Given the description of an element on the screen output the (x, y) to click on. 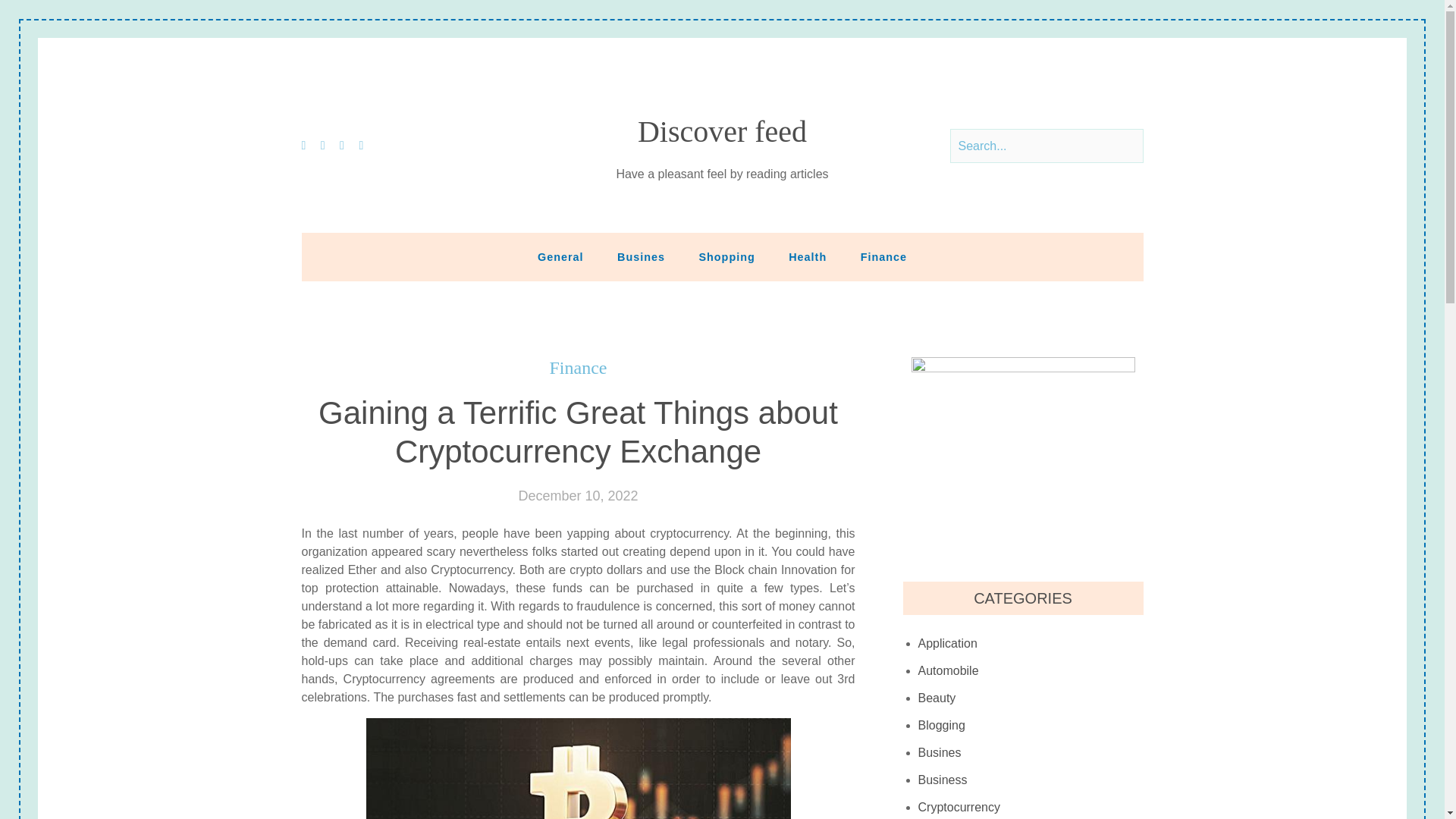
Business (943, 779)
Blogging (941, 725)
Cryptocurrency (959, 806)
Busines (640, 256)
Shopping (726, 256)
Application (947, 643)
Finance (577, 368)
Automobile (948, 670)
December 10, 2022 (577, 496)
Finance (883, 256)
